Given the description of an element on the screen output the (x, y) to click on. 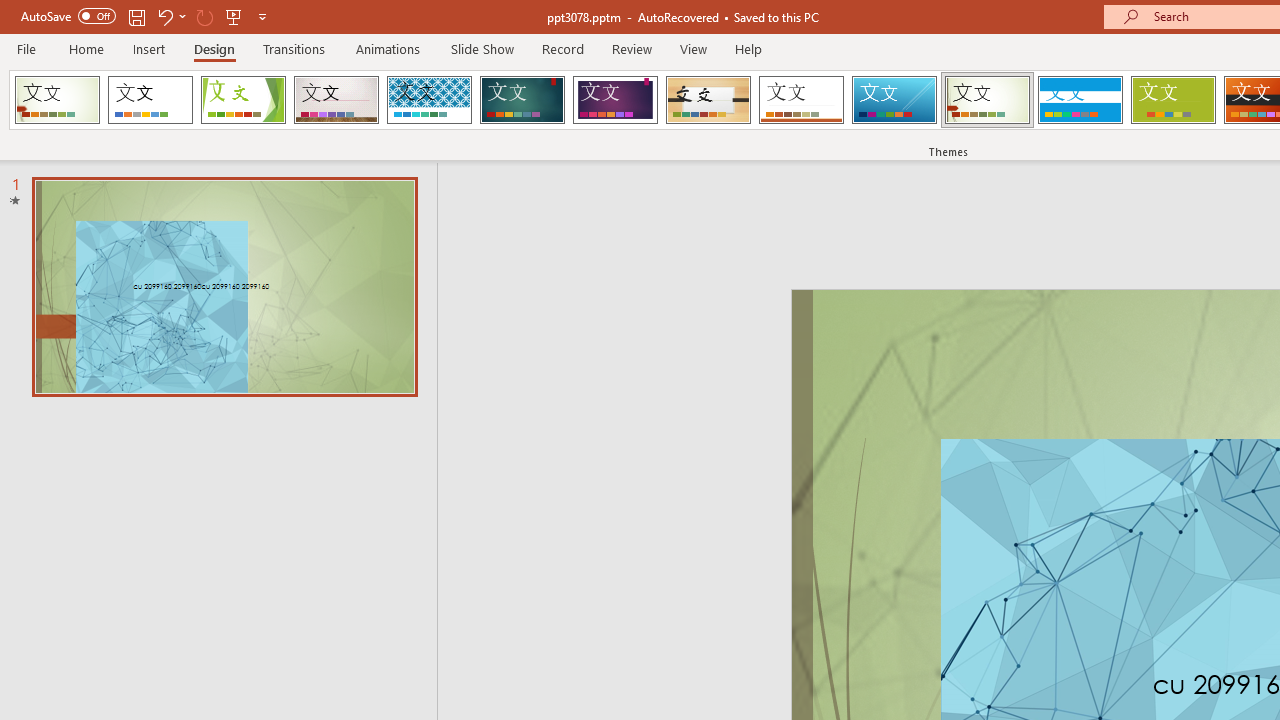
Office Theme (150, 100)
Organic (708, 100)
Basis (1172, 100)
Wisp (987, 100)
